Given the description of an element on the screen output the (x, y) to click on. 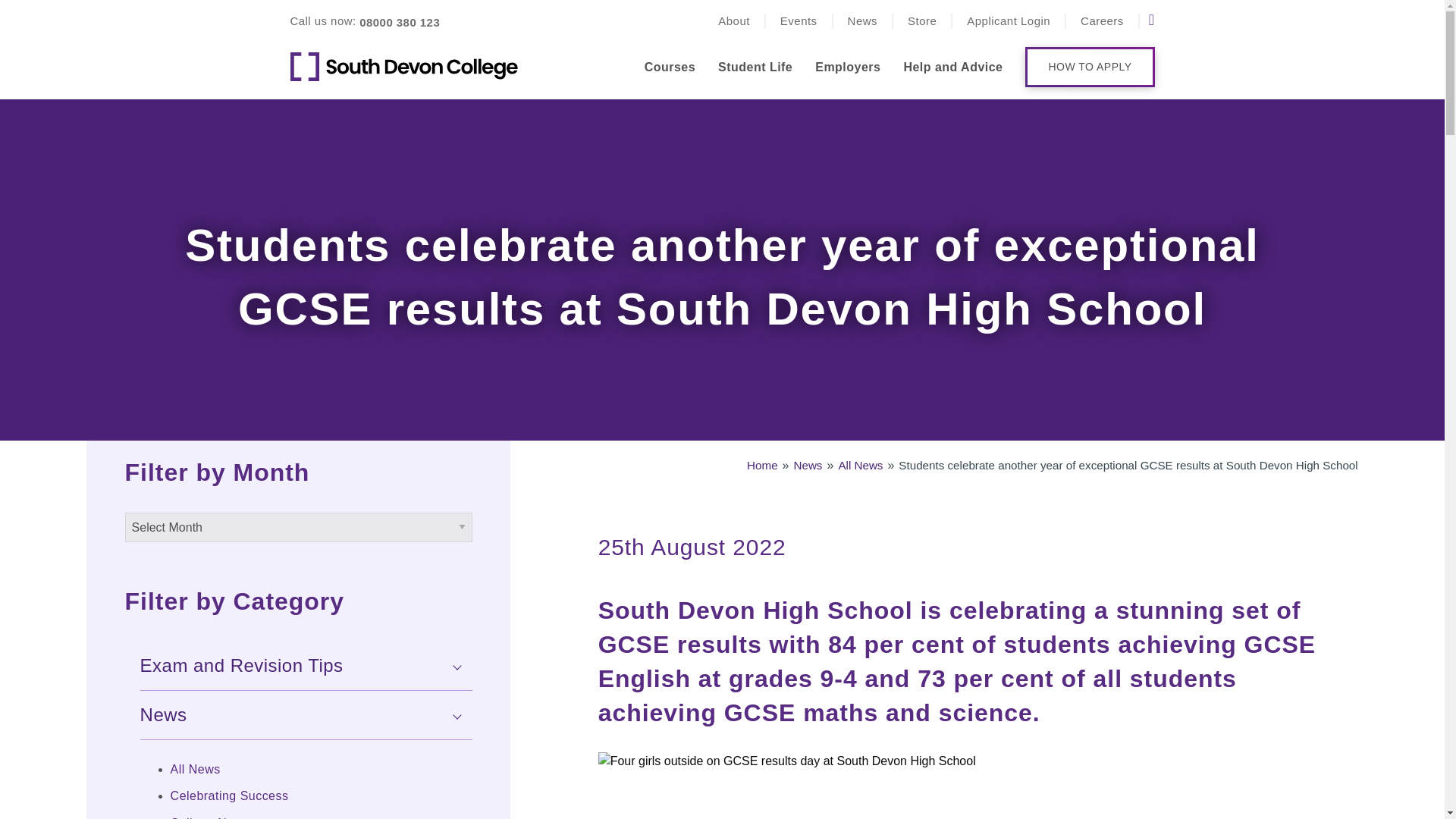
Help and Advice (952, 66)
08000 380 123 (399, 22)
Employers (847, 66)
Store (921, 21)
About (733, 21)
Events (798, 21)
Careers (1102, 21)
Applicant Login (1007, 21)
Student Life (754, 66)
Home (761, 466)
Courses (670, 66)
News (862, 21)
